Given the description of an element on the screen output the (x, y) to click on. 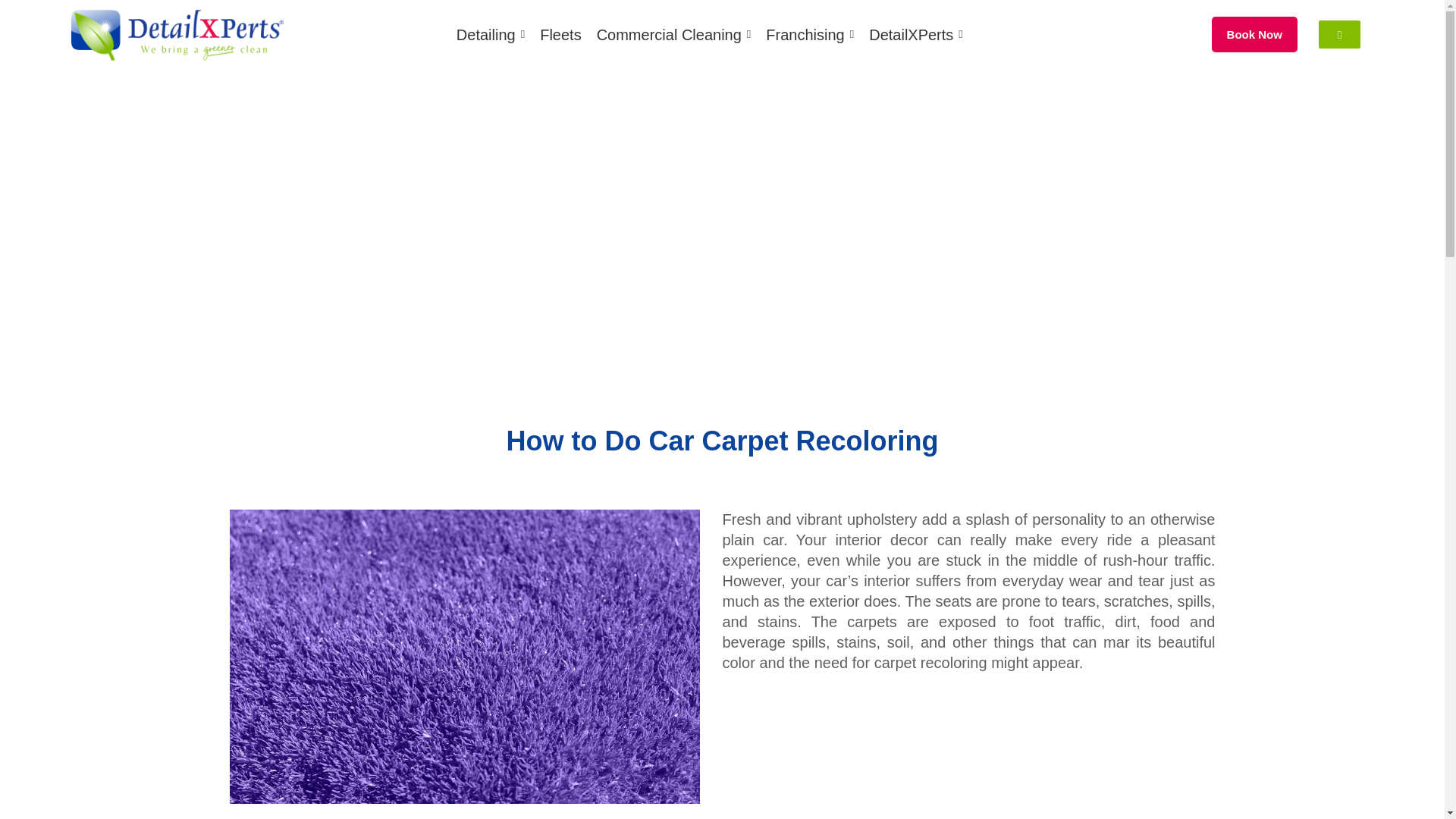
Commercial Cleaning (673, 34)
Detailing (490, 34)
Fleets (560, 34)
Franchising (809, 34)
